Given the description of an element on the screen output the (x, y) to click on. 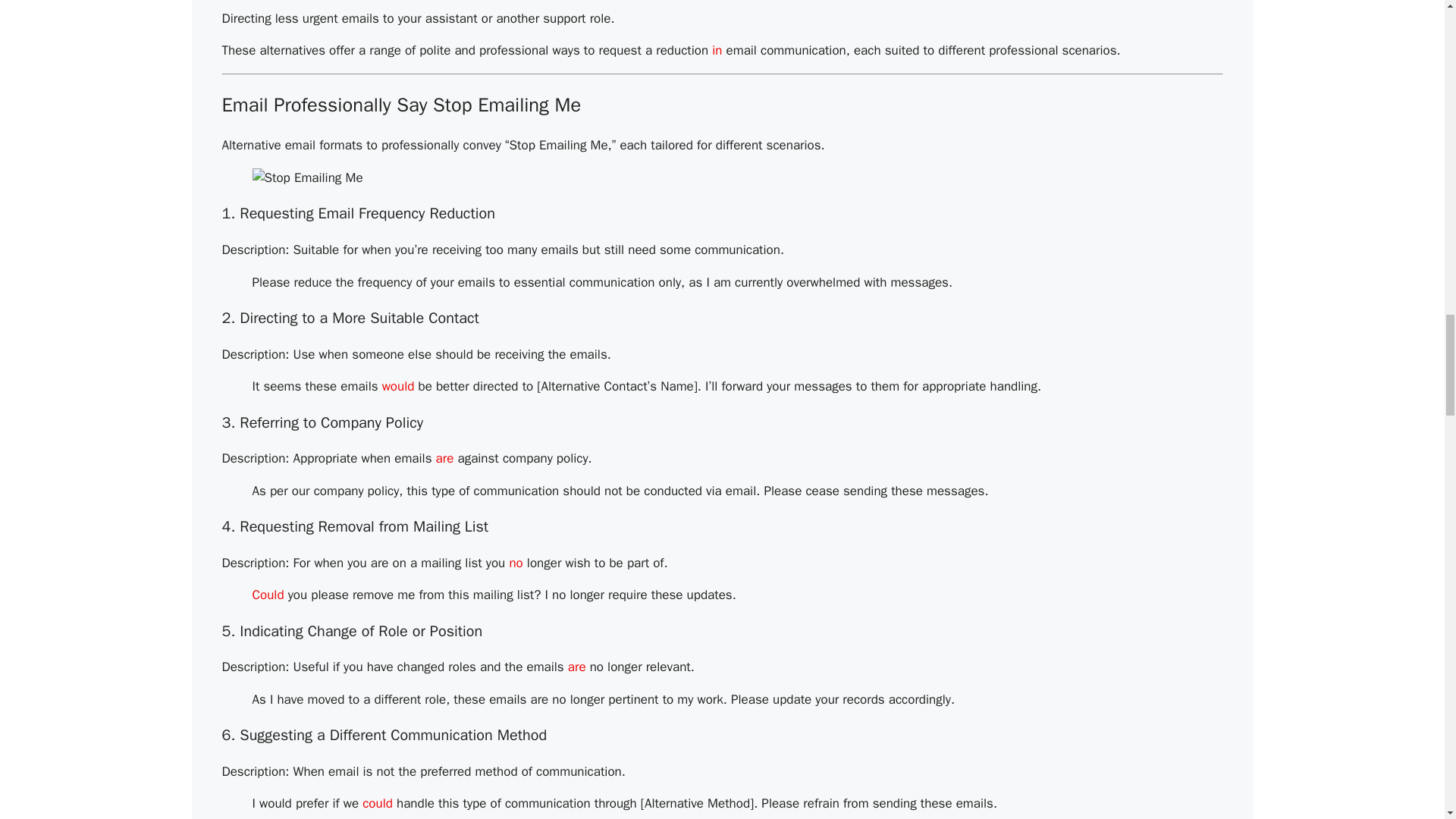
in (716, 50)
How to Professionally Say Stop Emailing Me 4 (306, 177)
would (397, 385)
